Given the description of an element on the screen output the (x, y) to click on. 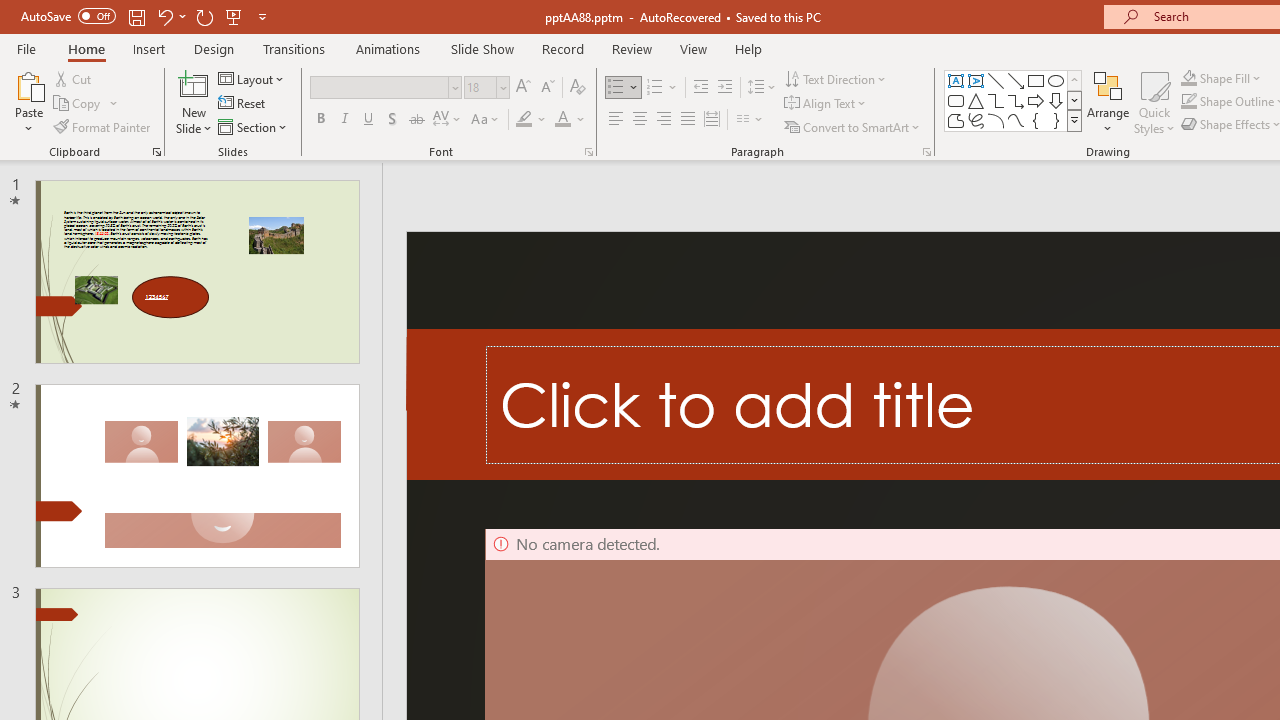
Bullets (616, 87)
Shape Outline Teal, Accent 1 (1188, 101)
Line Spacing (762, 87)
Left Brace (1035, 120)
View (693, 48)
Character Spacing (447, 119)
Freeform: Scribble (975, 120)
Office Clipboard... (156, 151)
Align Text (826, 103)
Arrange (1108, 102)
Curve (1016, 120)
File Tab (26, 48)
Increase Font Size (522, 87)
Decrease Indent (700, 87)
Increase Indent (725, 87)
